Given the description of an element on the screen output the (x, y) to click on. 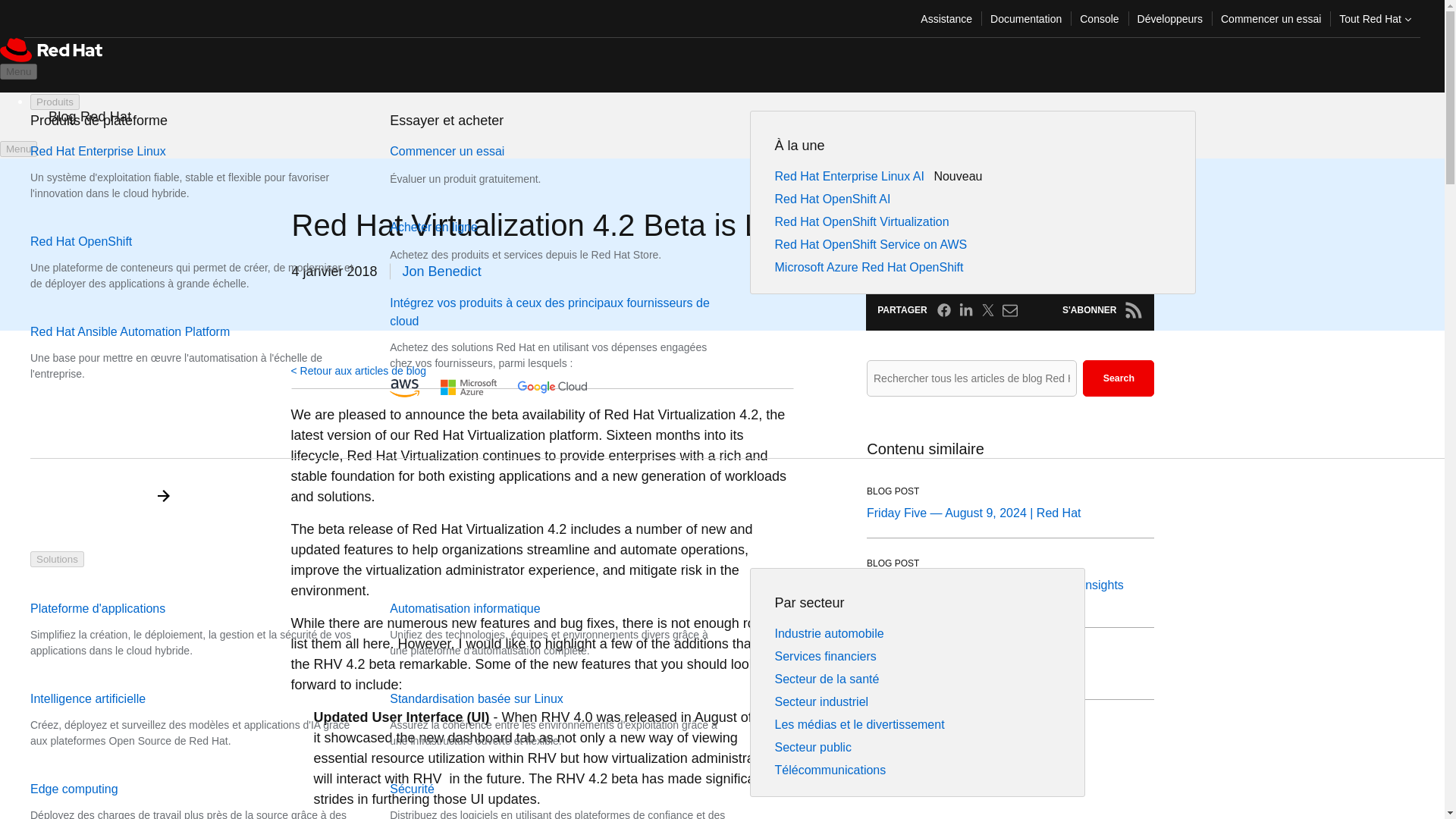
Commencer un essai (1270, 18)
S'abonner (1132, 310)
Console (1098, 18)
See more by Jon Benedict (442, 271)
Assistance (946, 18)
Documentation (1025, 18)
Tout Red Hat (1375, 18)
